Given the description of an element on the screen output the (x, y) to click on. 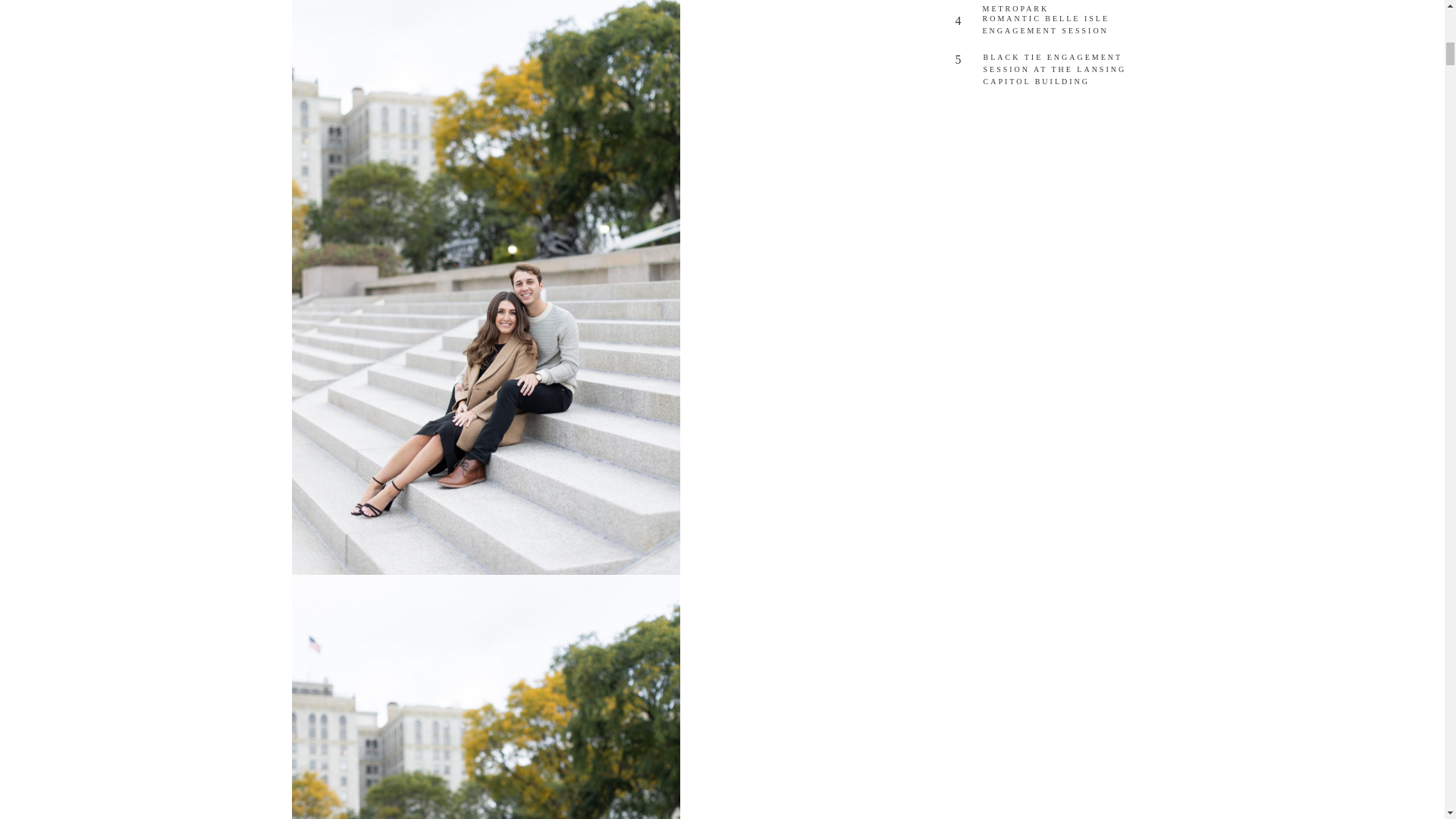
4 (965, 23)
BLACK TIE ENGAGEMENT SESSION AT THE LANSING CAPITOL BUILDING (1059, 66)
ROMANTIC BELLE ISLE ENGAGEMENT SESSION (1059, 28)
5 (965, 61)
SUMMER WEDDING AT STONEY CREEK METROPARK (1059, 4)
